Given the description of an element on the screen output the (x, y) to click on. 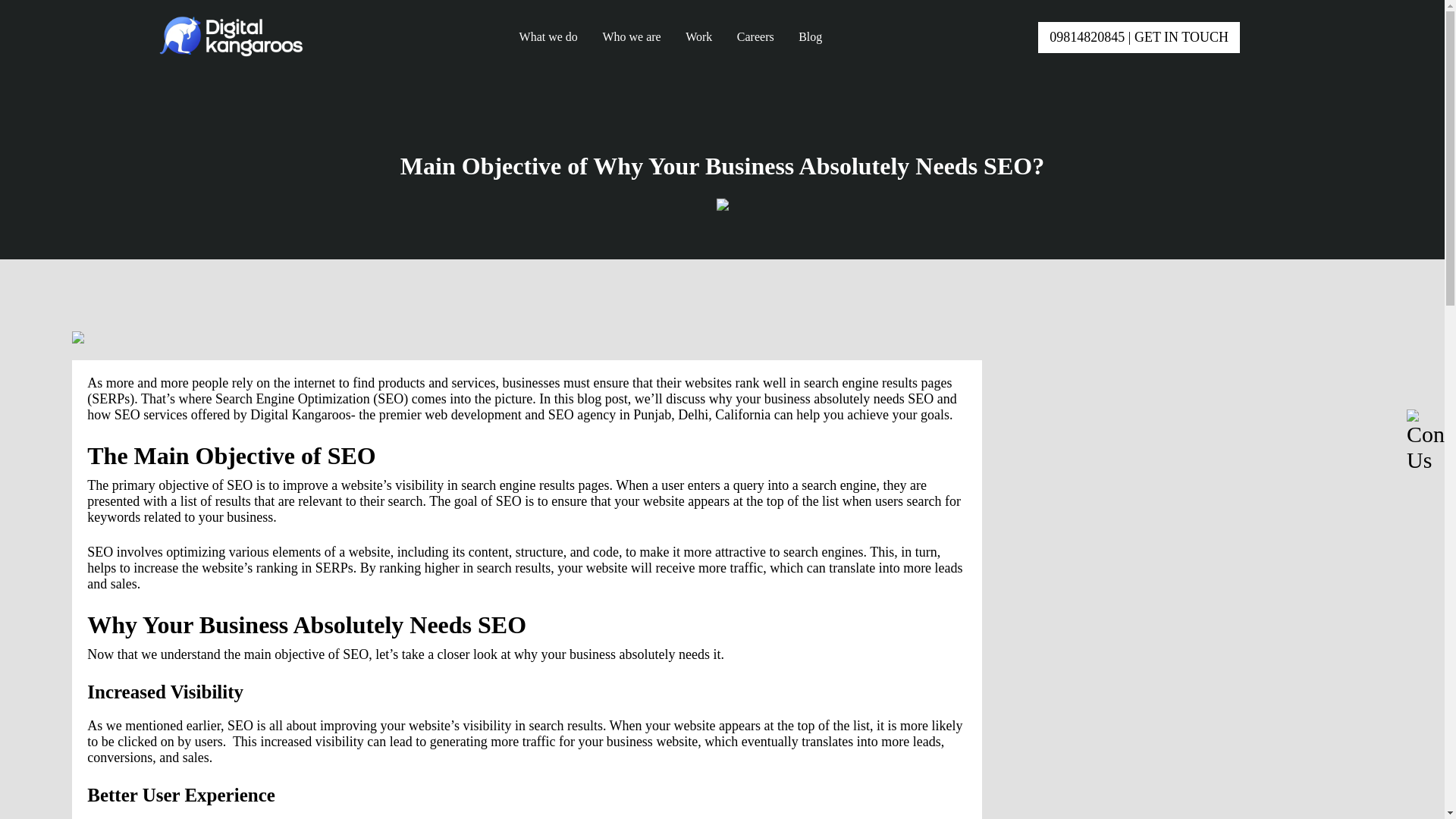
Who we are (631, 36)
Careers (755, 36)
Work (698, 36)
GET IN TOUCH (1179, 36)
What we do (548, 36)
09814820845 (1086, 36)
Blog (809, 36)
